Given the description of an element on the screen output the (x, y) to click on. 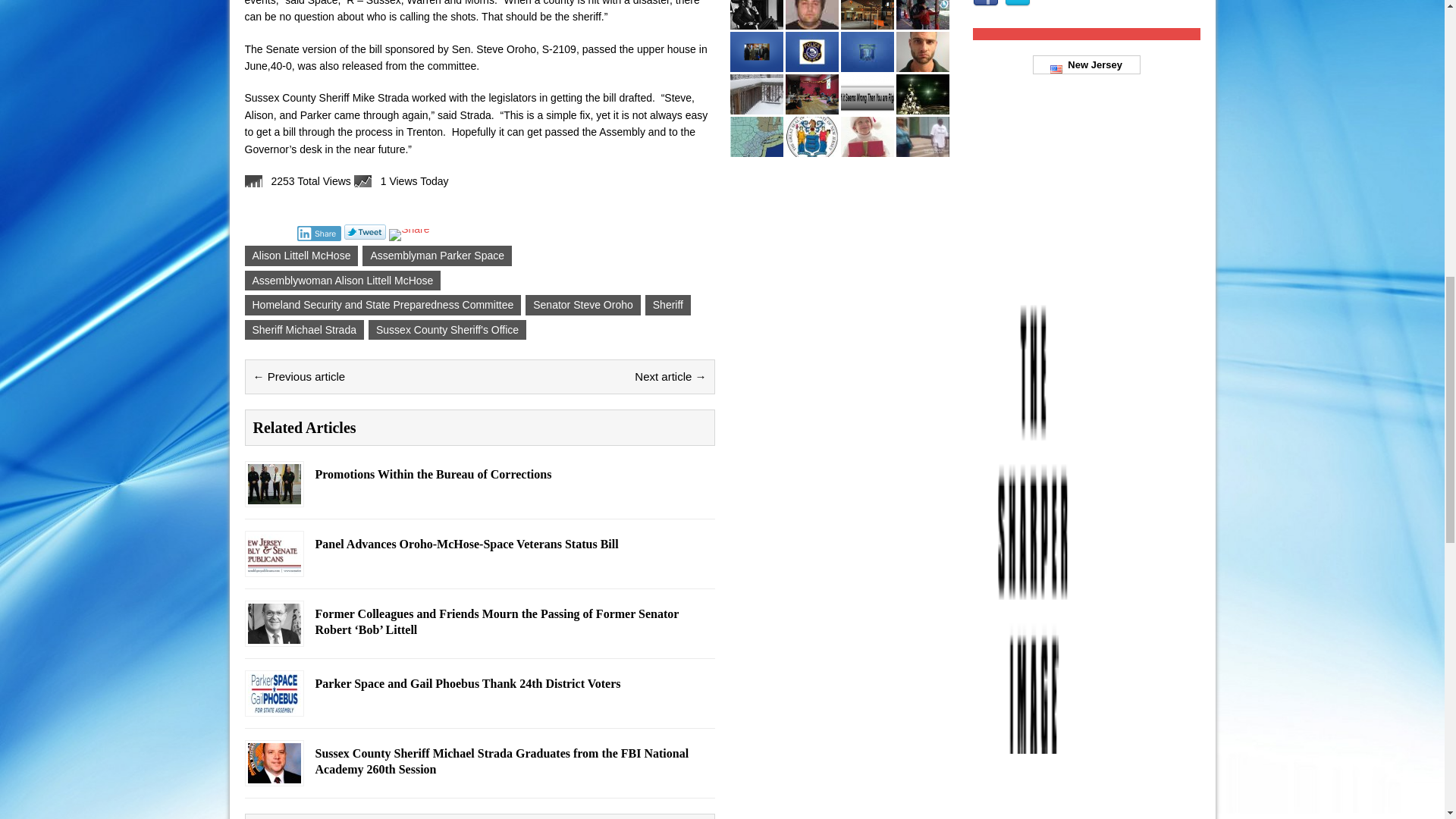
Parker Space and Gail Phoebus Thank 24th District Voters (273, 705)
Panel Advances Oroho-McHose-Space Veterans Status Bill (273, 565)
Promotions Within the Bureau of Corrections (273, 495)
